Given the description of an element on the screen output the (x, y) to click on. 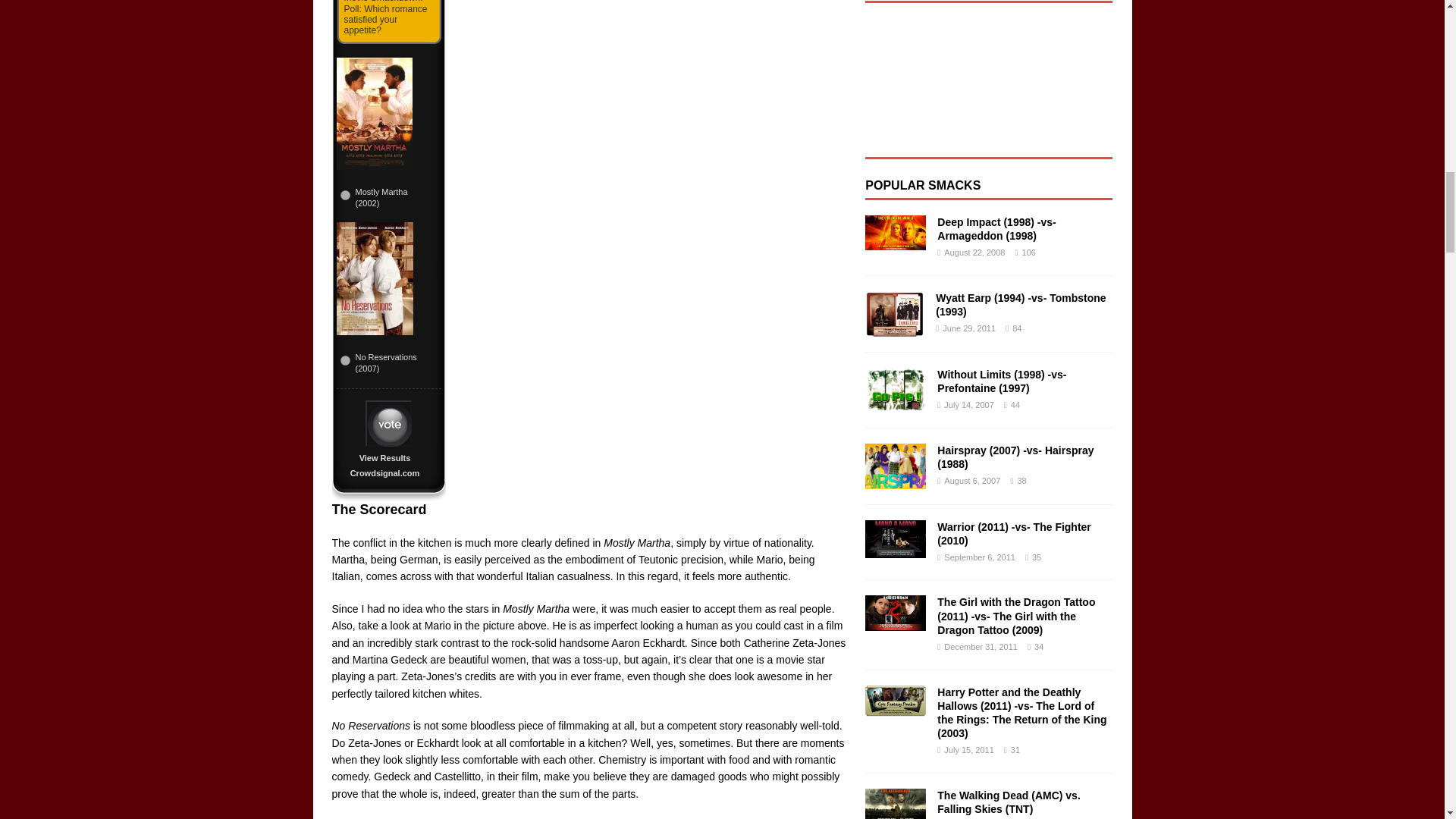
22462597 (344, 194)
22462598 (344, 360)
